Given the description of an element on the screen output the (x, y) to click on. 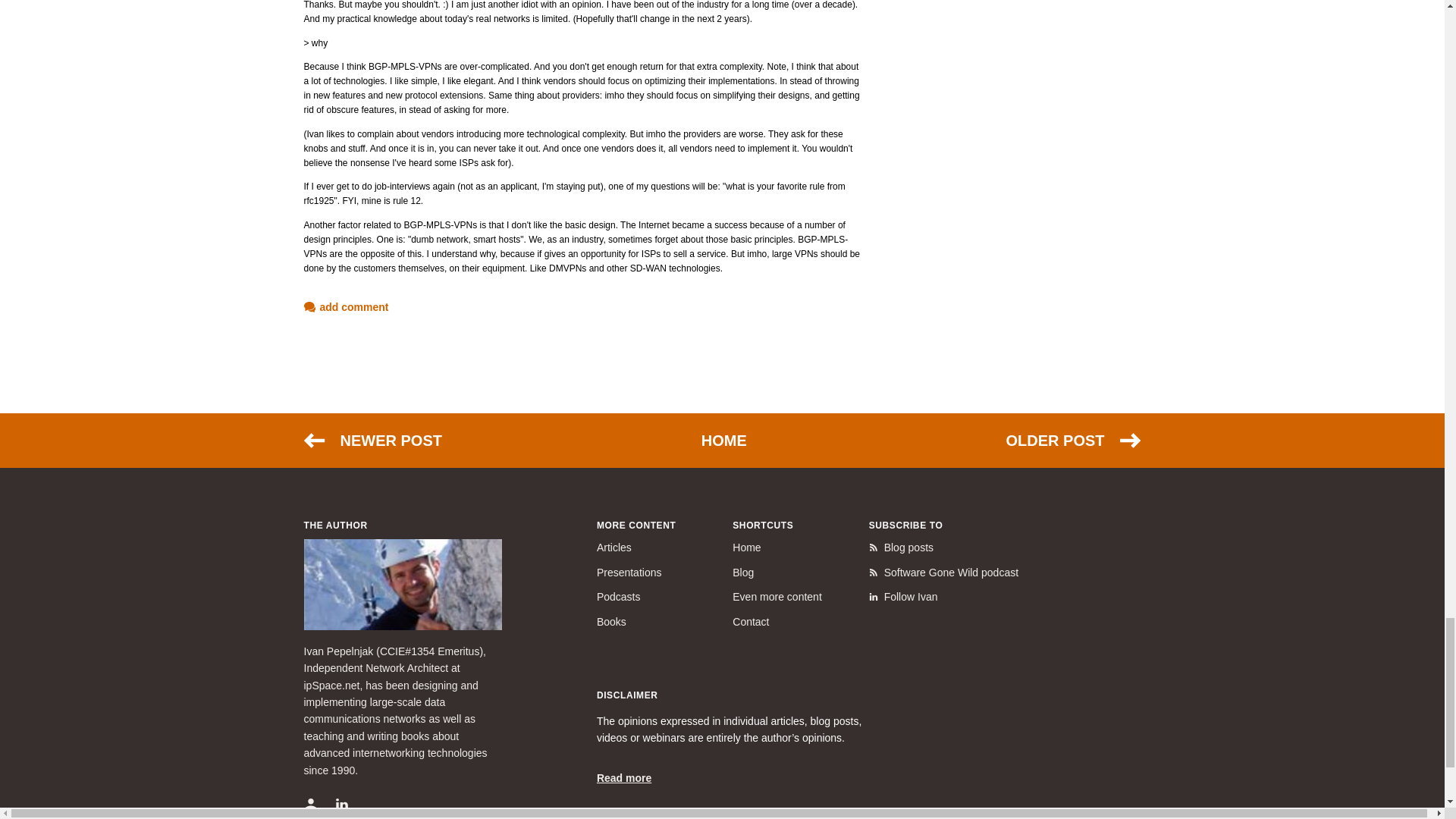
Newer Post (371, 440)
Older Post (1073, 440)
